Given the description of an element on the screen output the (x, y) to click on. 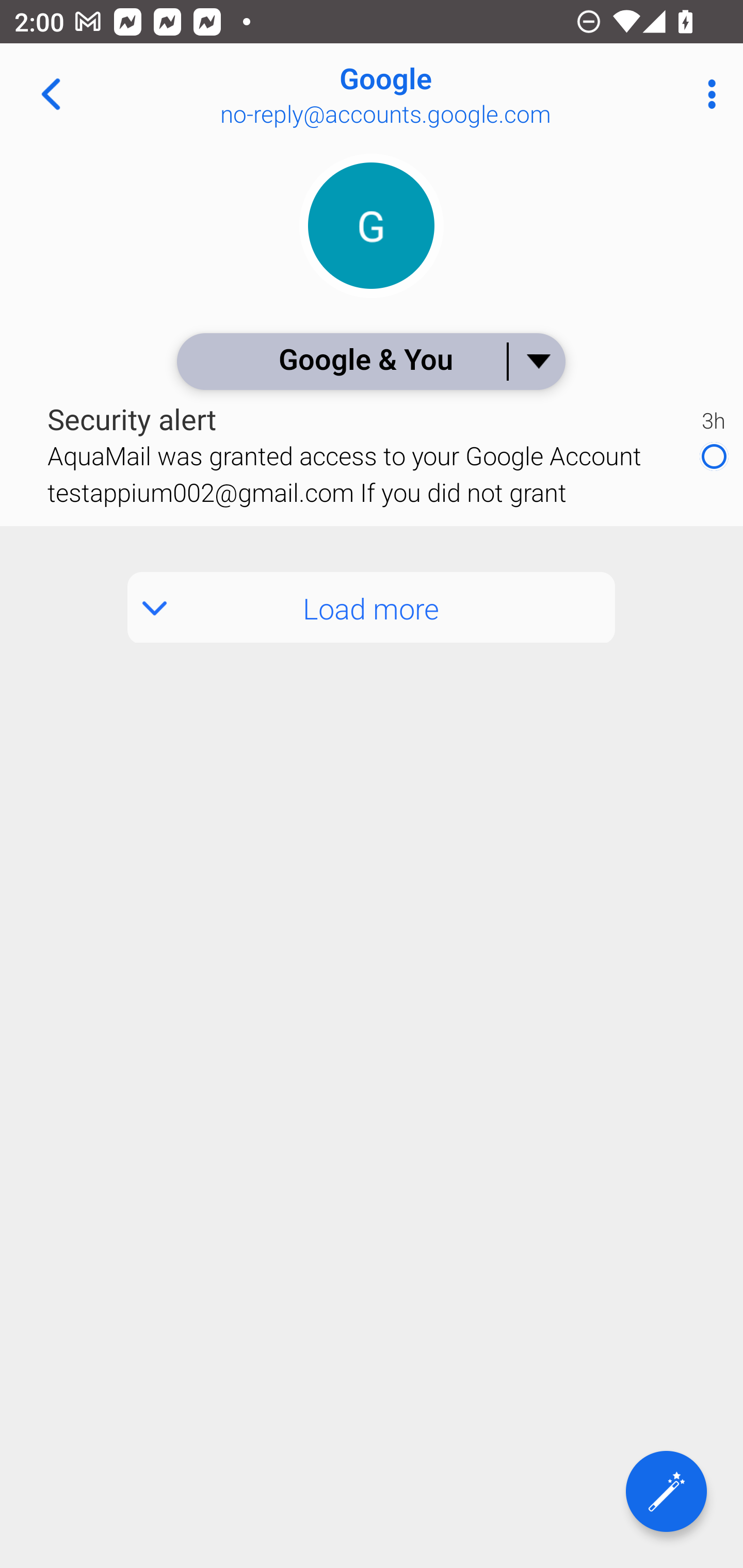
Navigate up (50, 93)
Google no-reply@accounts.google.com (436, 93)
More Options (706, 93)
Google & You (370, 361)
Load more (371, 607)
